Given the description of an element on the screen output the (x, y) to click on. 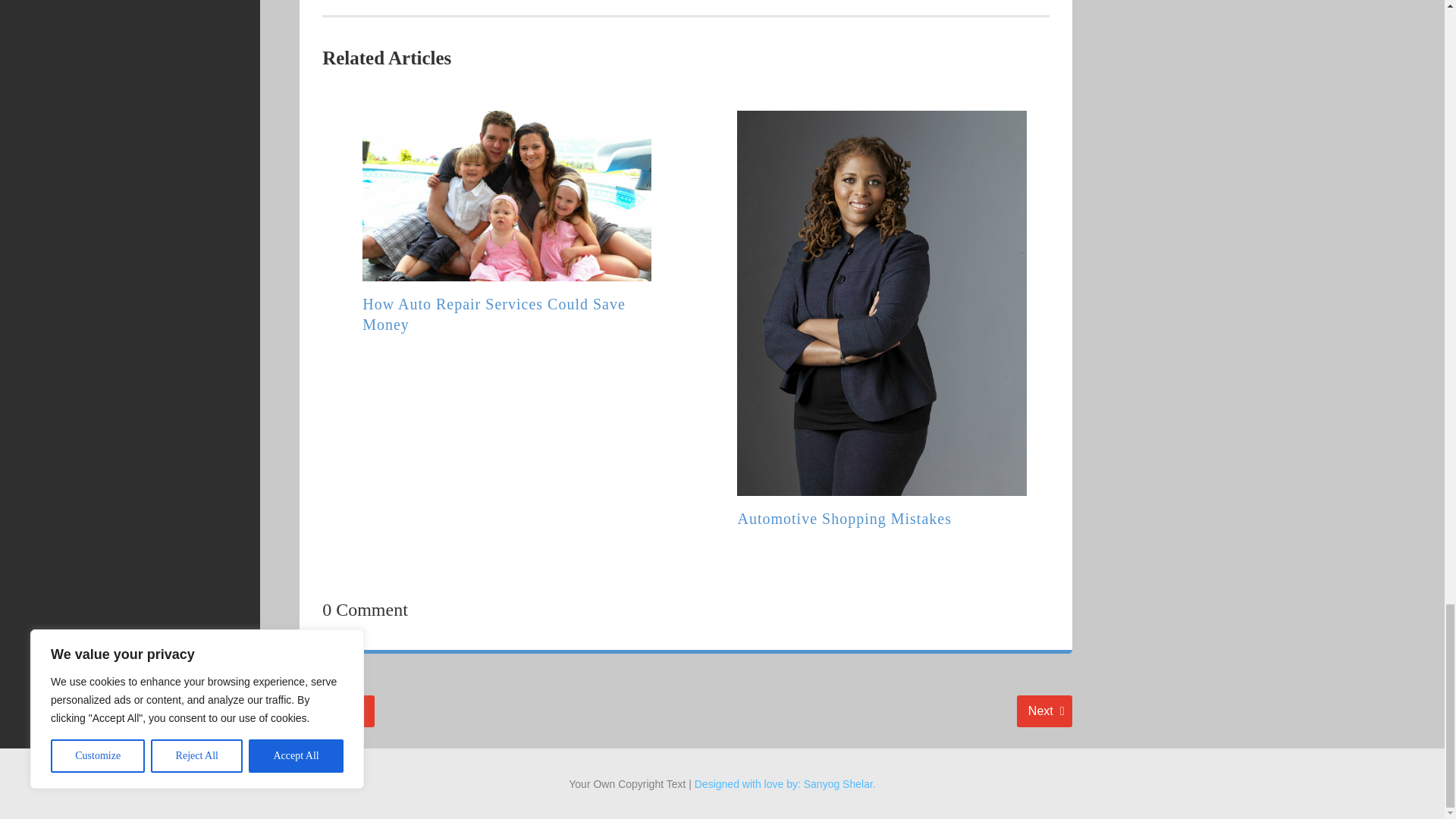
How Auto Repair Services Could Save Money (335, 711)
Automotive Shopping Mistakes (1043, 711)
